Given the description of an element on the screen output the (x, y) to click on. 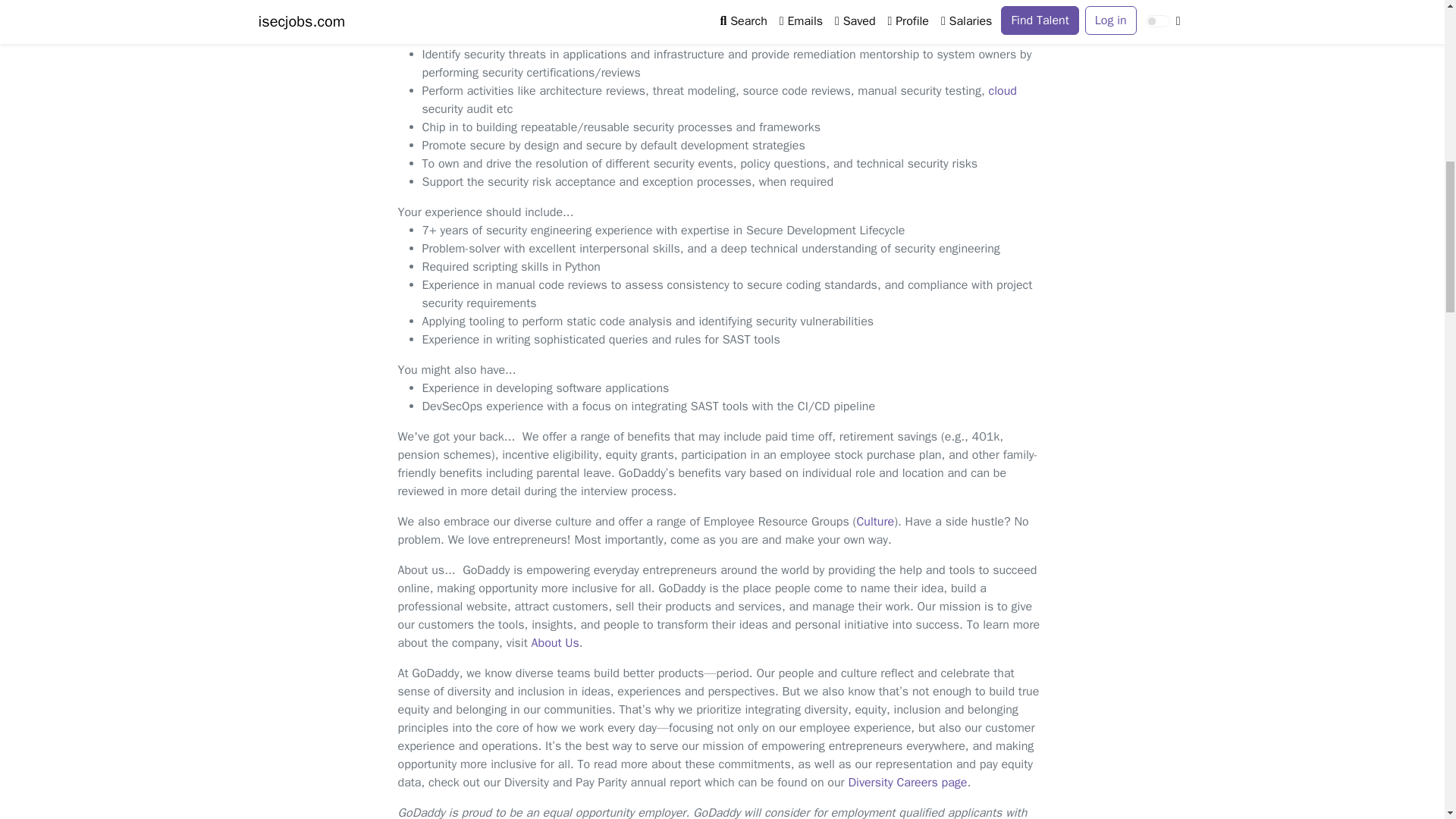
Culture (874, 521)
About Us (555, 642)
cloud (1002, 90)
Diversity Careers page (906, 782)
